Given the description of an element on the screen output the (x, y) to click on. 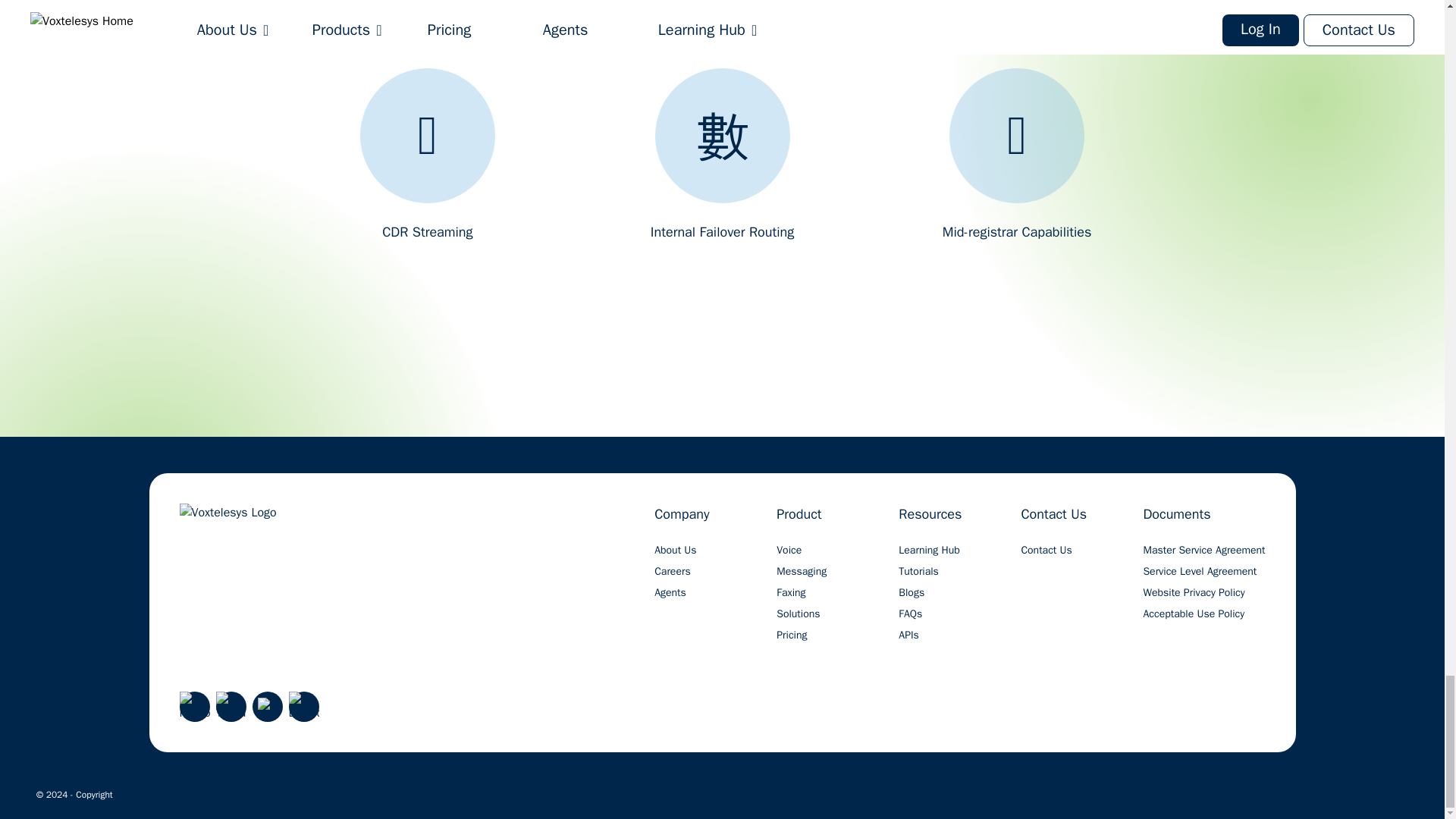
Faxing (790, 592)
Learning Hub (928, 549)
Voice (789, 549)
Messaging (801, 571)
Blogs (911, 592)
Solutions (797, 613)
About Us (674, 549)
FAQs (909, 613)
Tutorials (918, 571)
Call Quality Tracking (1017, 15)
